Given the description of an element on the screen output the (x, y) to click on. 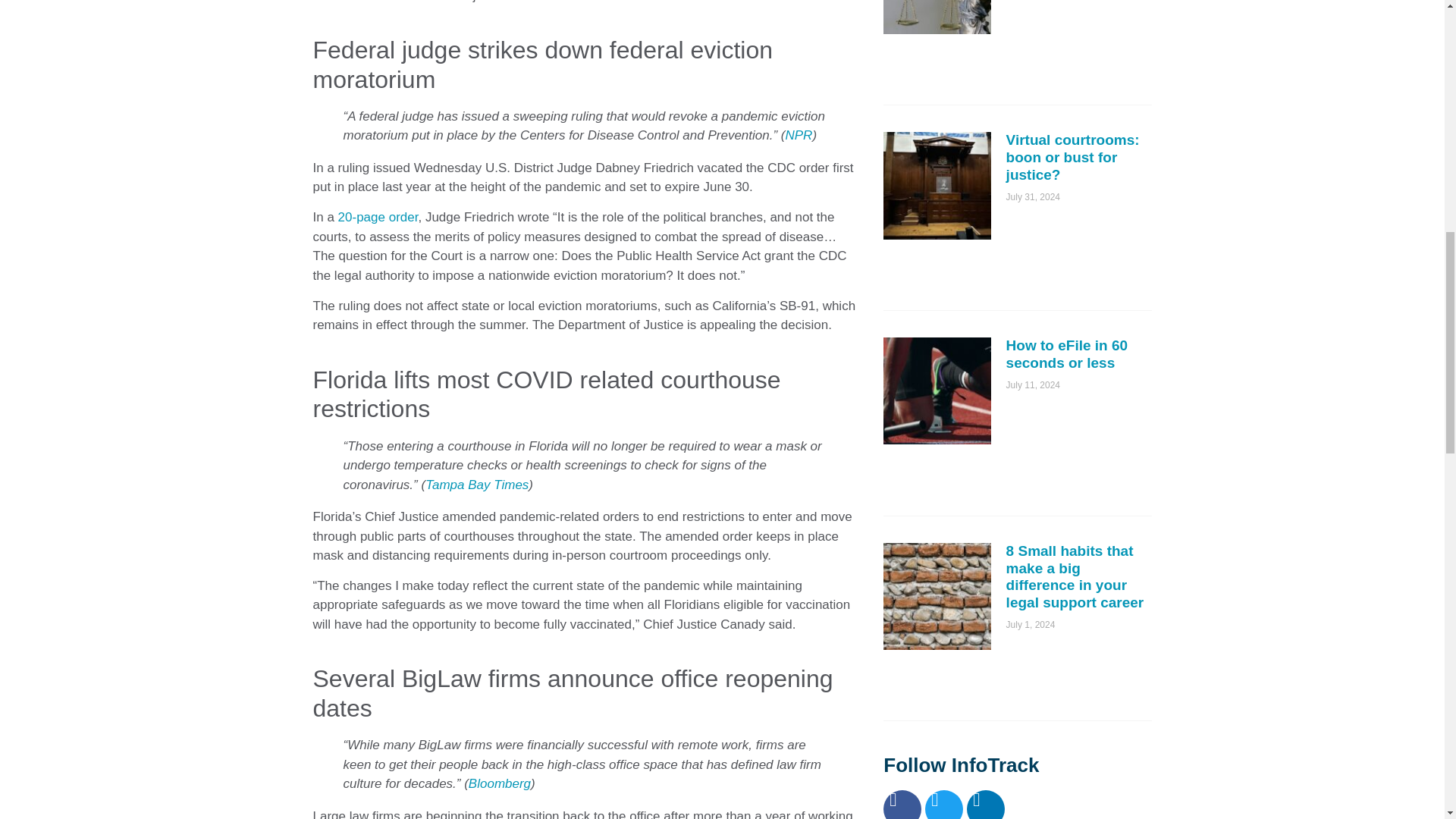
NPR (799, 134)
Bloomberg (499, 783)
Tampa Bay Times (476, 484)
20-page order (378, 216)
